Given the description of an element on the screen output the (x, y) to click on. 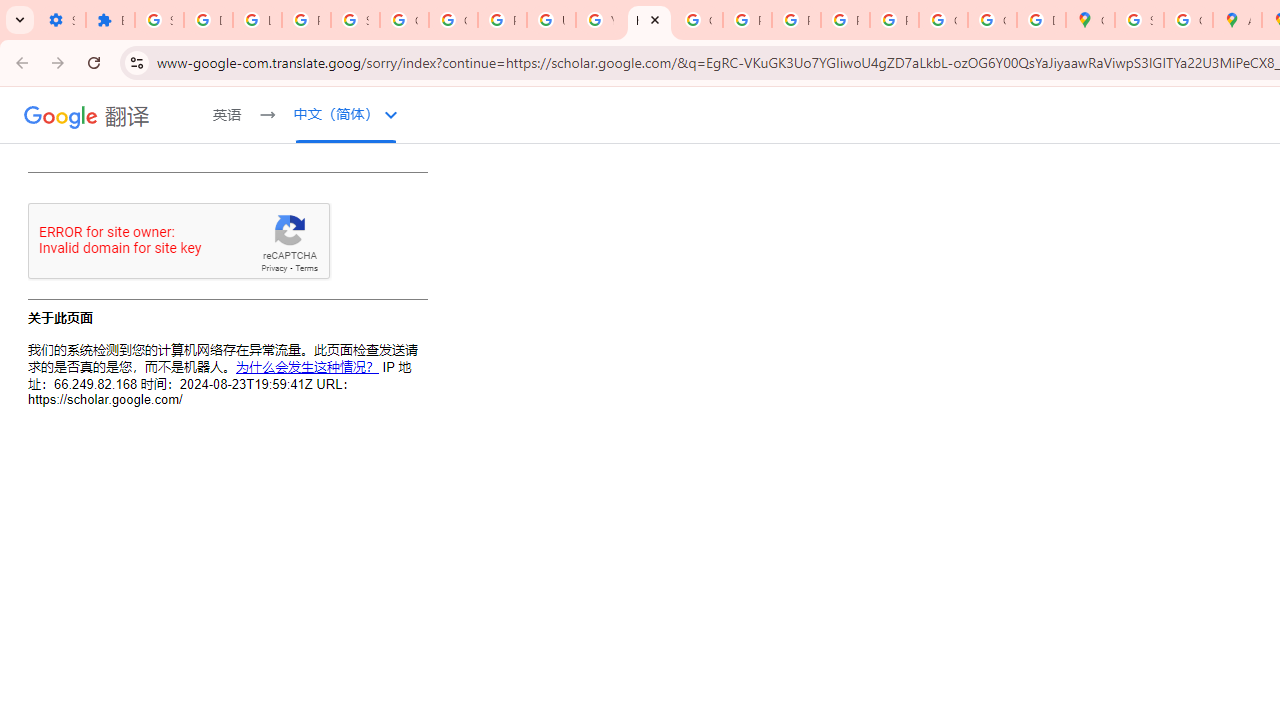
Settings - On startup (61, 20)
https://scholar.google.com/ (649, 20)
Privacy Help Center - Policies Help (747, 20)
Sign in - Google Accounts (159, 20)
View site information (136, 62)
Google (61, 116)
Extensions (109, 20)
Terms (306, 267)
